Given the description of an element on the screen output the (x, y) to click on. 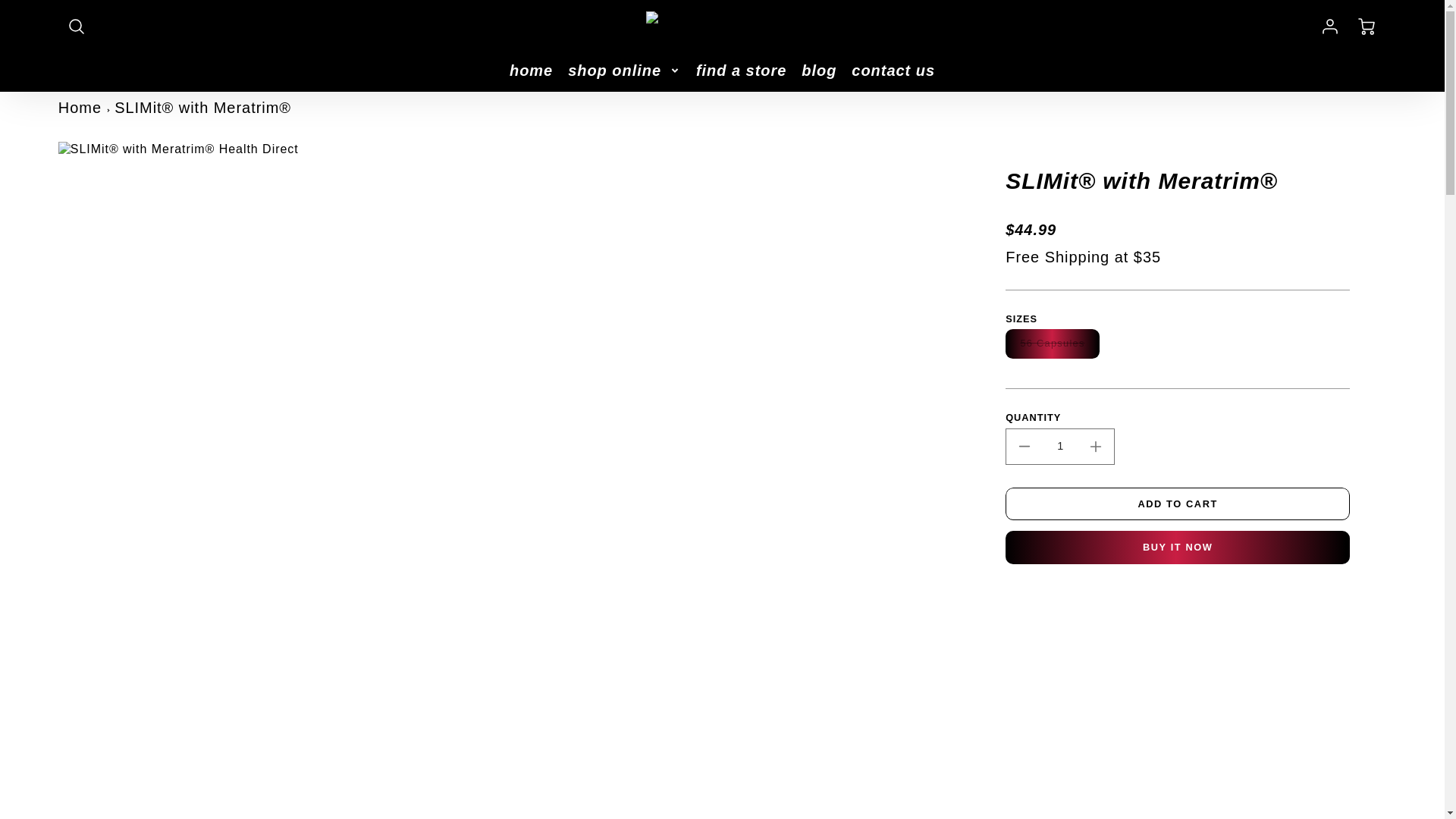
Account Login (1330, 26)
shop online (624, 70)
find a store (740, 70)
contact us (892, 70)
1 (1059, 445)
blog (818, 70)
Cart (1368, 26)
home (531, 70)
